Given the description of an element on the screen output the (x, y) to click on. 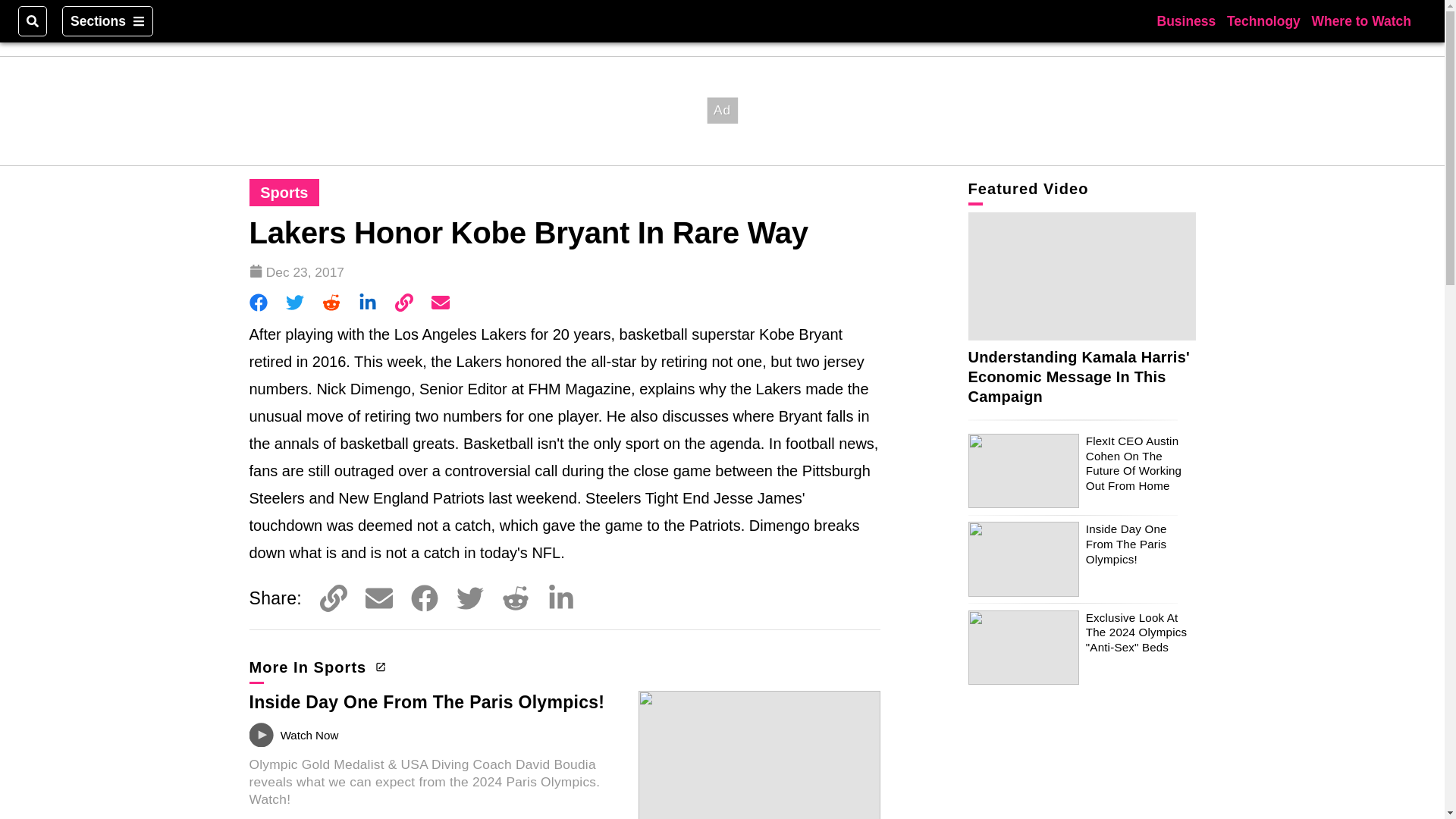
Sports (283, 192)
Where to Watch (1360, 20)
Inside Day One From The Paris Olympics! (426, 701)
Technology (1263, 20)
More In Sports (314, 667)
Sections (107, 20)
Inside Day One From The Paris Olympics! (1126, 543)
Business (1186, 20)
Exclusive Look At The 2024 Olympics "Anti-Sex" Beds (1136, 631)
